Given the description of an element on the screen output the (x, y) to click on. 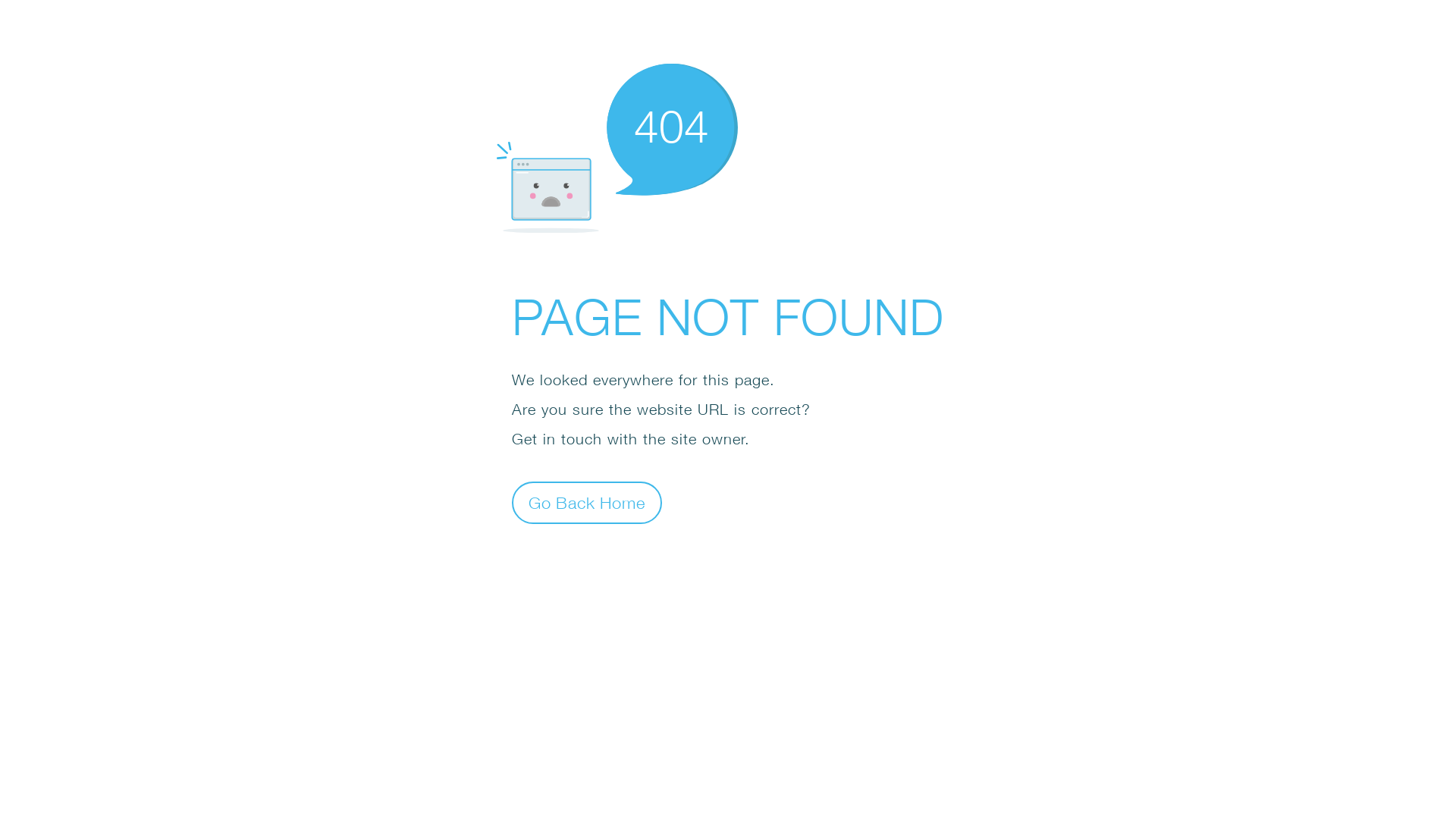
Go Back Home Element type: text (586, 502)
